Given the description of an element on the screen output the (x, y) to click on. 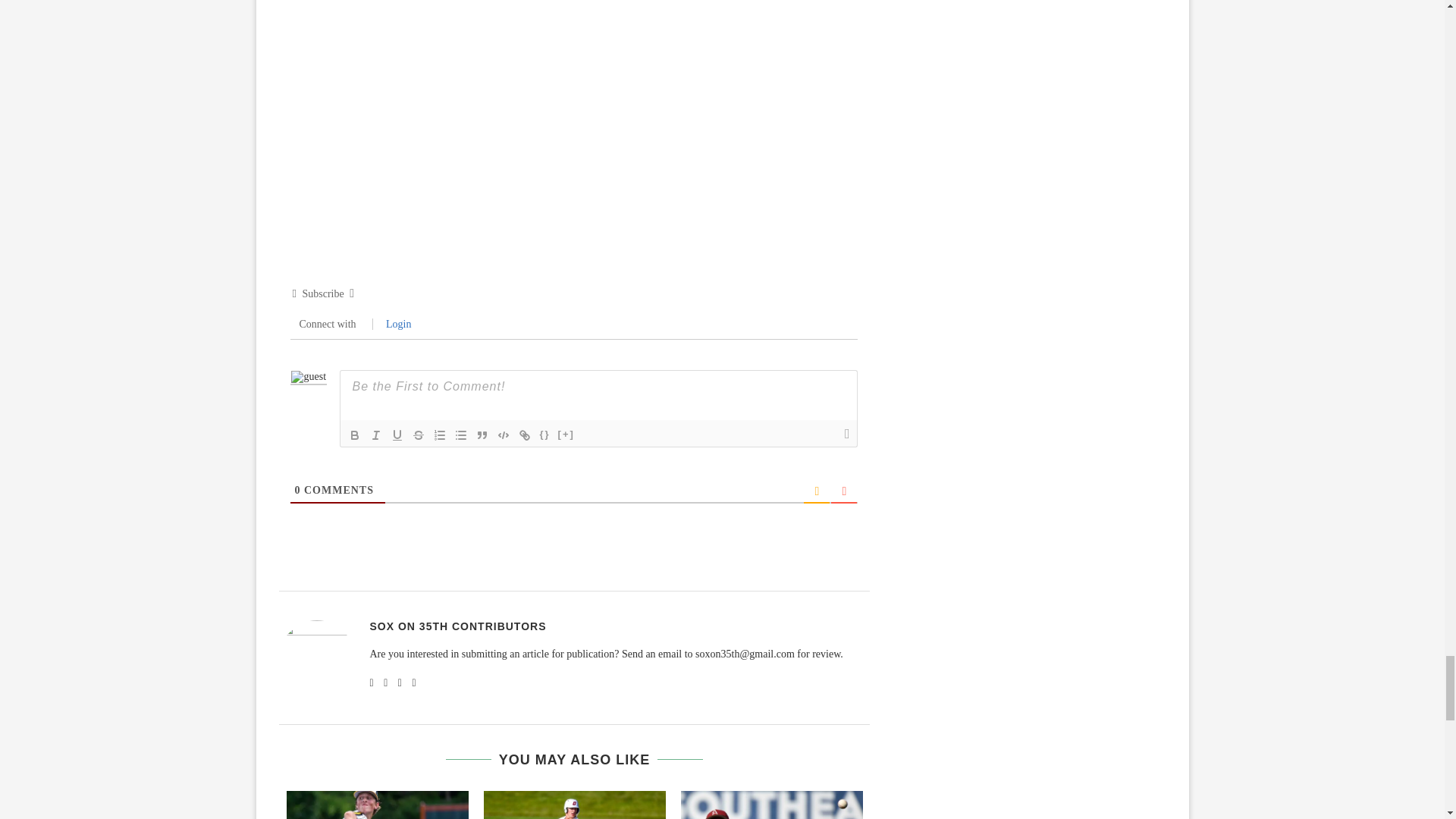
Sox On 35th Podcast (574, 108)
Bold (354, 434)
